Given the description of an element on the screen output the (x, y) to click on. 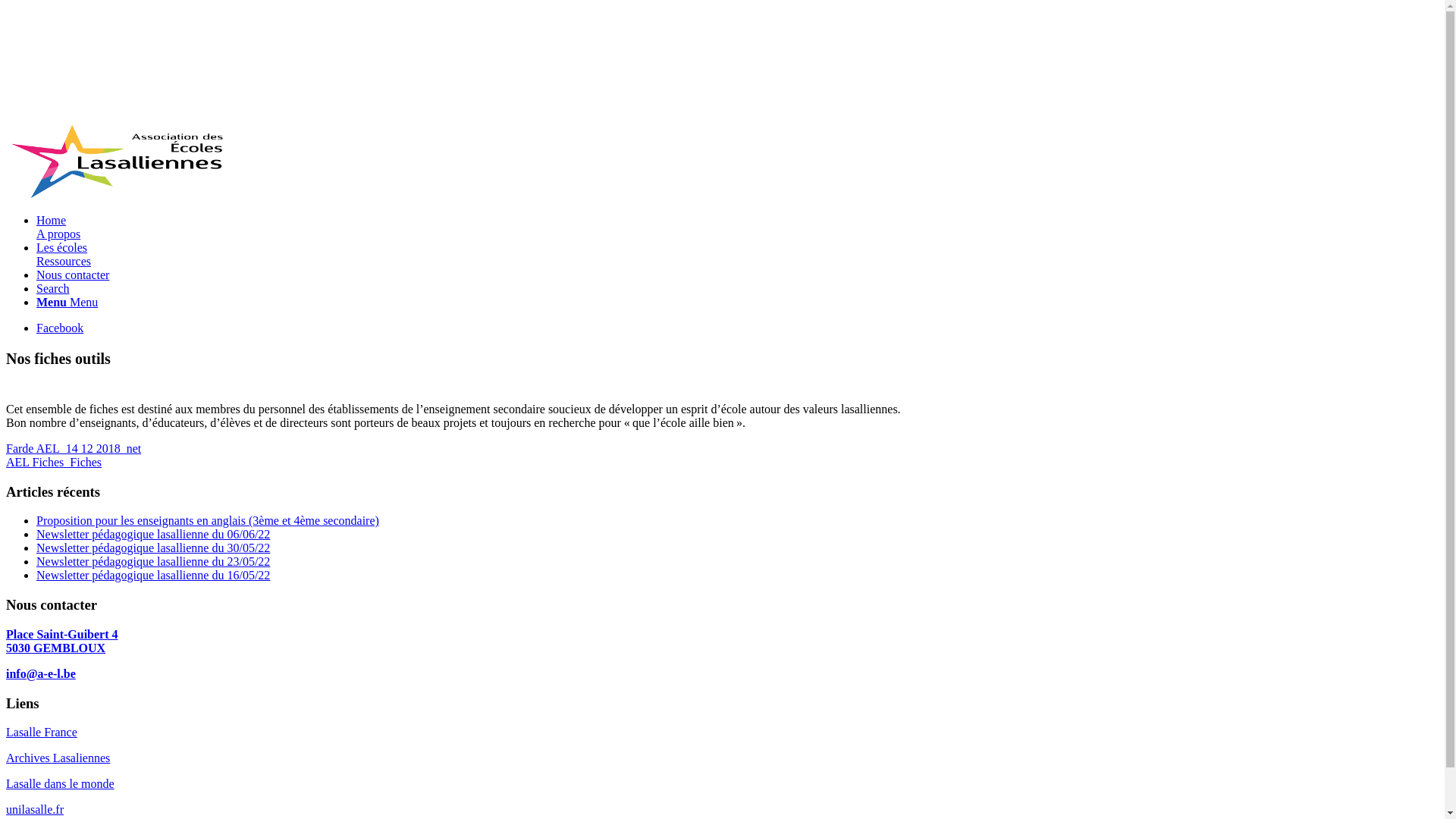
Home Element type: text (50, 219)
AEL Fiches_Fiches Element type: text (53, 461)
Facebook Element type: text (59, 327)
Lasalle France Element type: text (41, 731)
Menu Menu Element type: text (66, 301)
Ressources Element type: text (63, 260)
Place Saint-Guibert 4
5030 GEMBLOUX Element type: text (62, 640)
unilasalle.fr Element type: text (34, 809)
Lasalle dans le monde Element type: text (60, 783)
info@a-e-l.be Element type: text (40, 673)
Nous contacter Element type: text (72, 274)
A propos Element type: text (58, 233)
Search Element type: text (52, 288)
Farde AEL_14 12 2018_net Element type: text (73, 448)
Archives Lasaliennes Element type: text (57, 757)
